Given the description of an element on the screen output the (x, y) to click on. 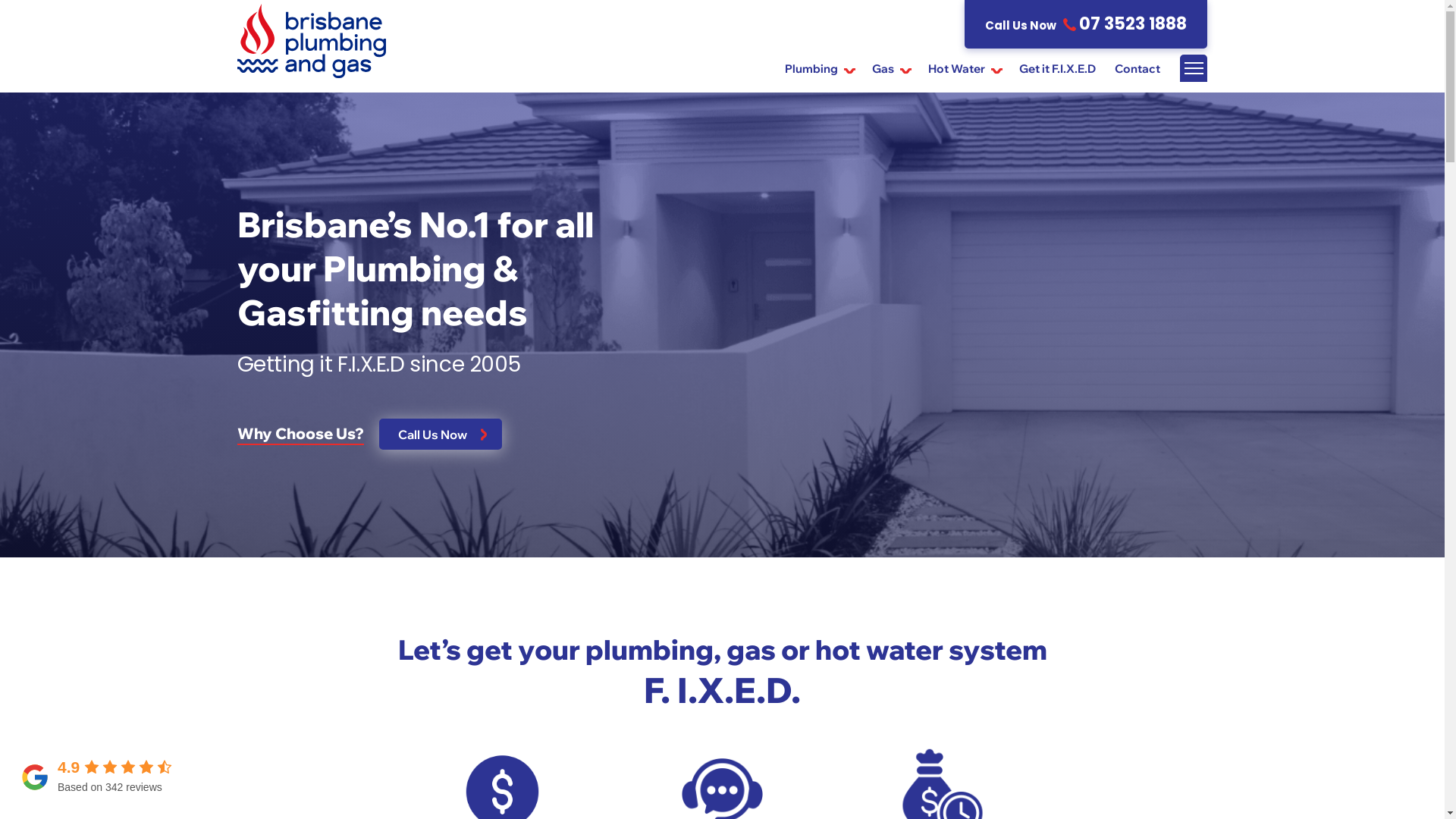
Contact Element type: text (1137, 67)
Call Us Now 07 3523 1888 Element type: text (1085, 24)
Plumbing Element type: text (818, 67)
Get it F.I.X.E.D Element type: text (1057, 67)
The Brisbane Plumbing and Gas Element type: hover (969, 324)
Hot Water Element type: text (964, 67)
Why Choose Us? Element type: text (299, 431)
Gas Element type: text (890, 67)
Call Us Now Element type: text (440, 433)
